Given the description of an element on the screen output the (x, y) to click on. 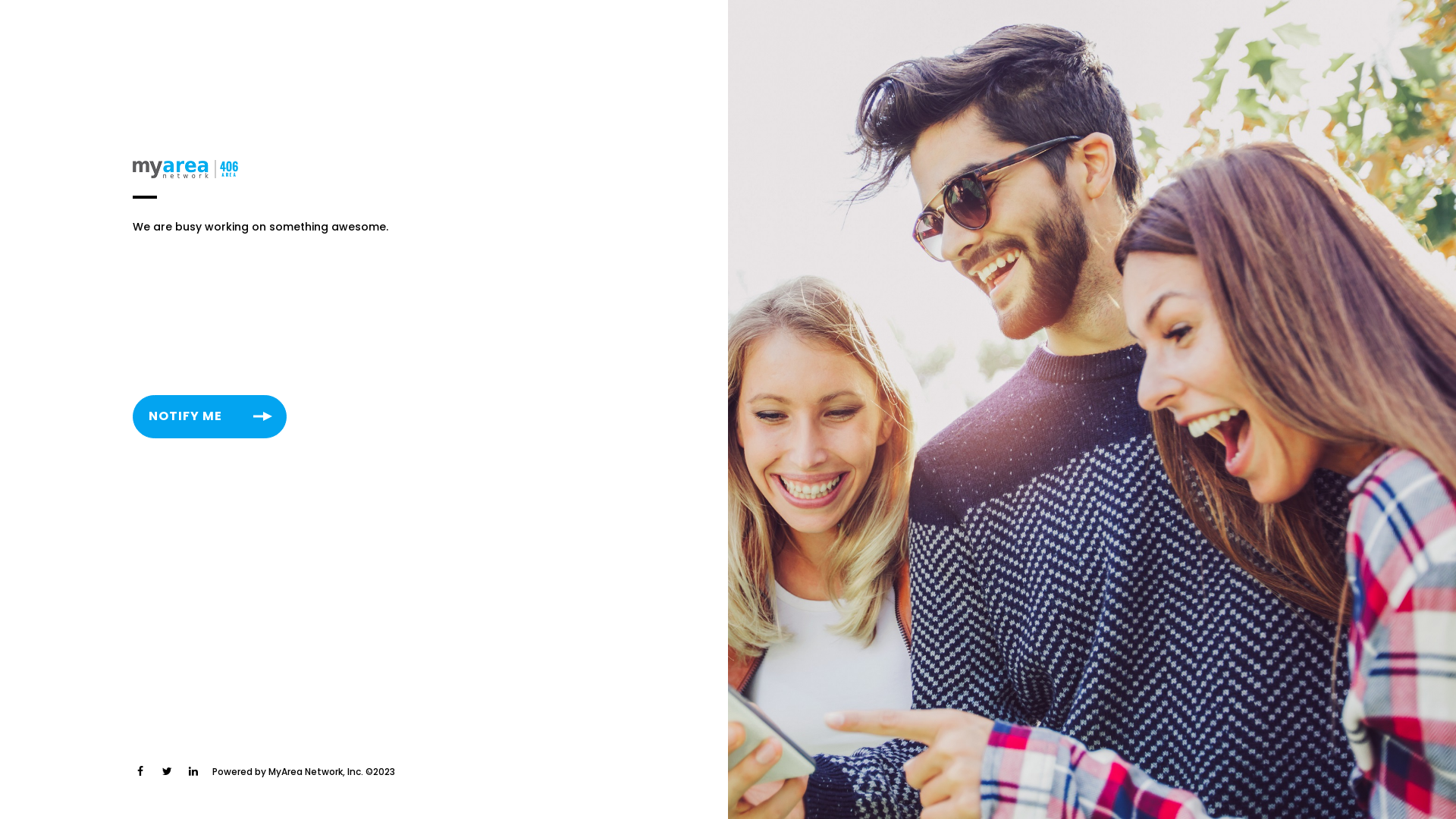
NOTIFY ME Element type: text (209, 416)
